Given the description of an element on the screen output the (x, y) to click on. 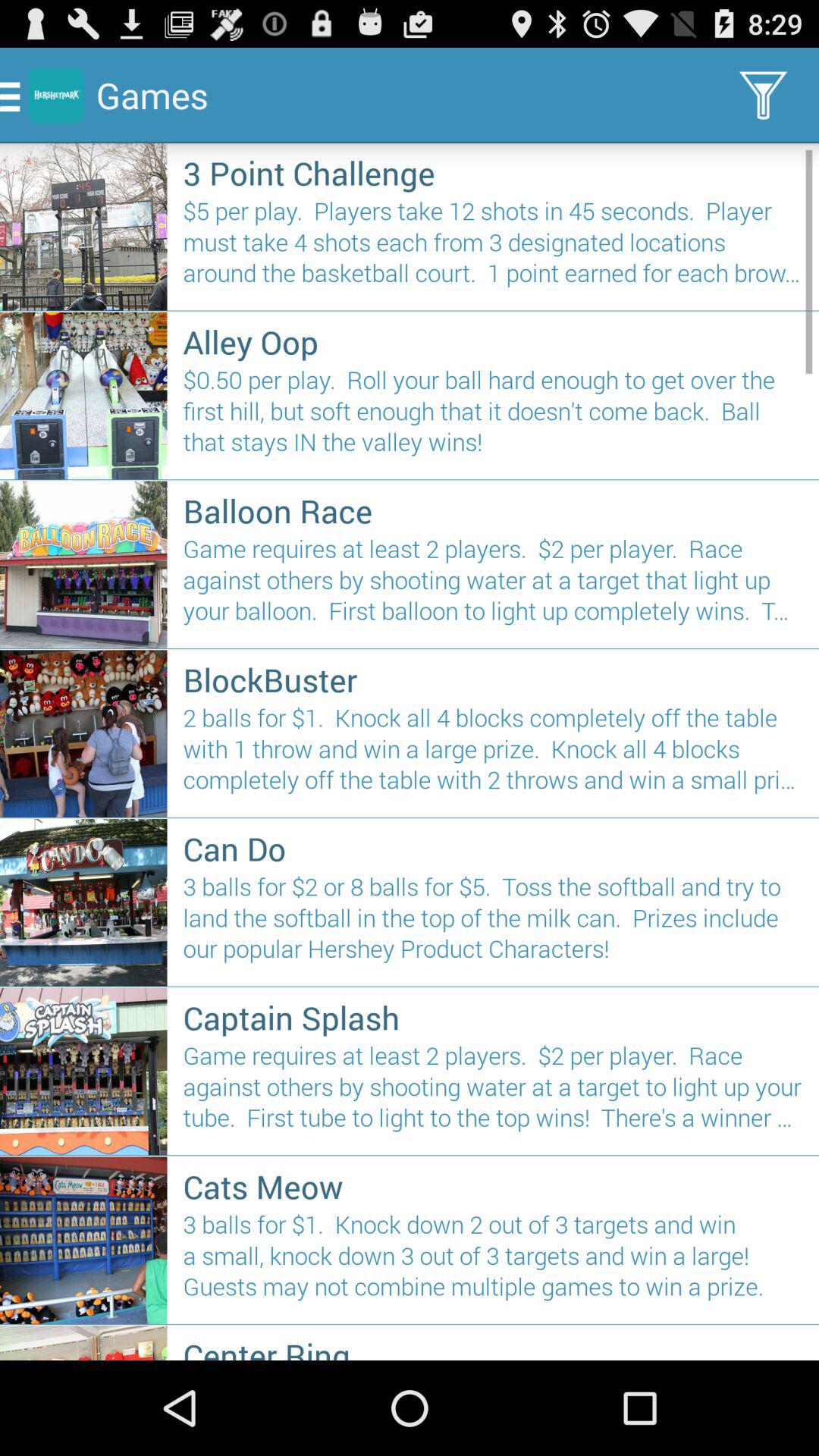
flip to the center ring item (493, 1346)
